Given the description of an element on the screen output the (x, y) to click on. 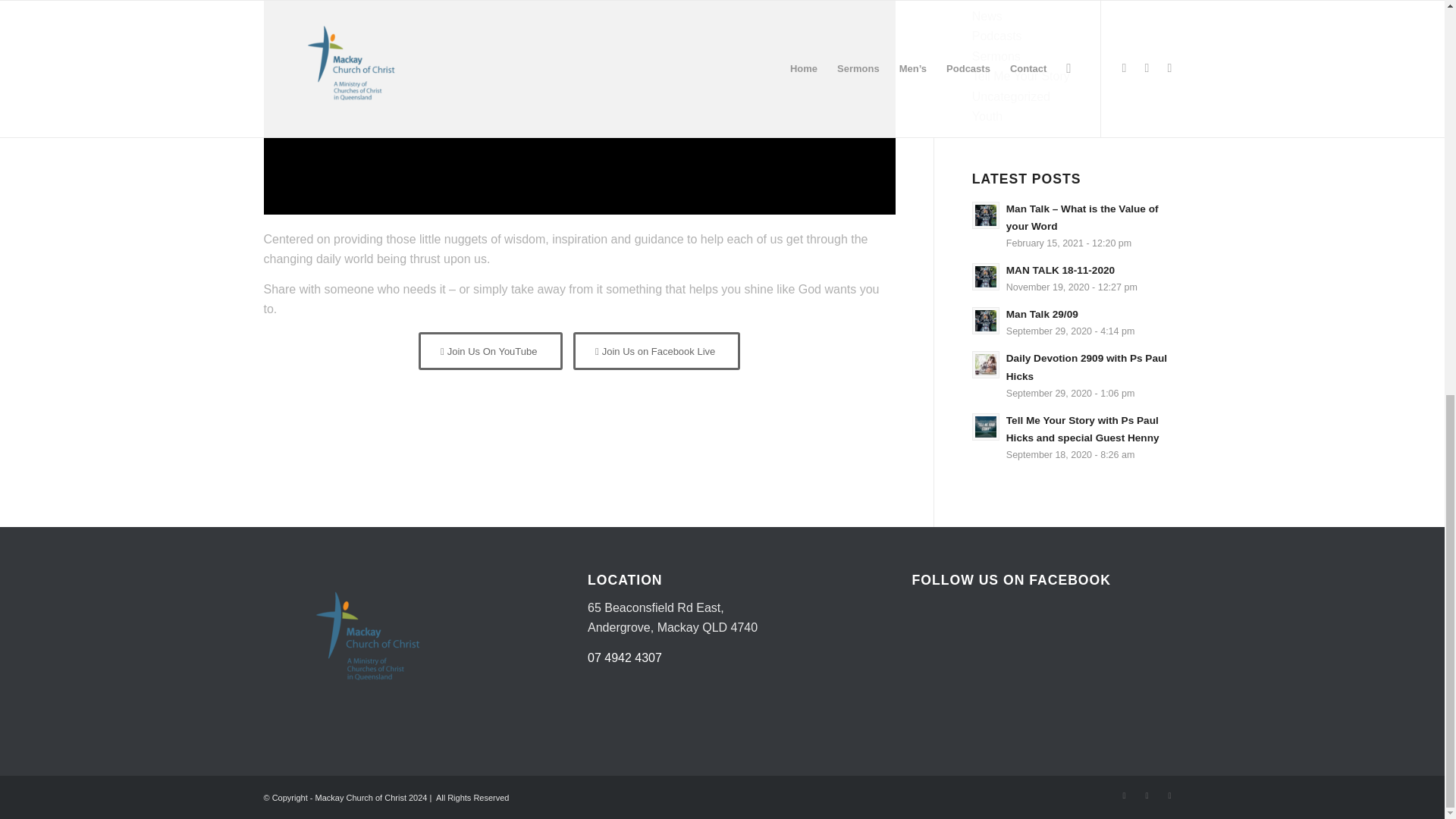
Instagram (1146, 794)
Man Talk (996, 1)
Join Us on Facebook Live (656, 351)
Uncategorized (1010, 96)
Tell Me Your Story (1021, 75)
Facebook (1124, 794)
News (987, 15)
07 4942 4307 (625, 657)
MAN TALK 18-11-2020 (1076, 278)
Youtube (1169, 794)
Join Us On YouTube (1076, 278)
